Given the description of an element on the screen output the (x, y) to click on. 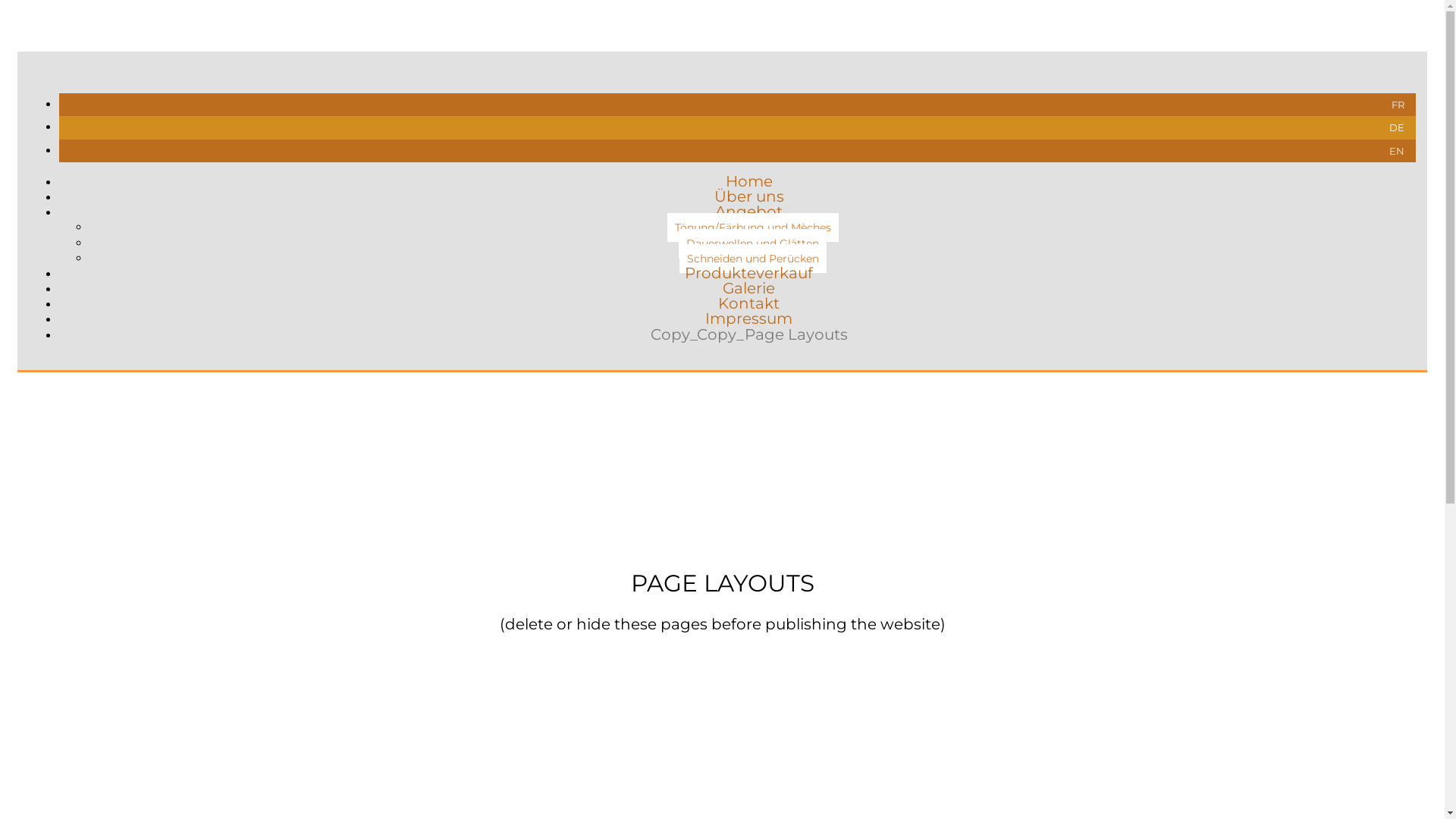
Angebot Element type: text (748, 211)
Produkteverkauf Element type: text (748, 272)
Impressum Element type: text (748, 318)
Copy_Copy_Page Layouts Element type: text (748, 334)
Home Element type: text (747, 181)
EN Element type: text (1396, 150)
Kontakt Element type: text (748, 303)
Galerie Element type: text (748, 288)
DE Element type: text (1396, 127)
FR Element type: text (1397, 104)
